Given the description of an element on the screen output the (x, y) to click on. 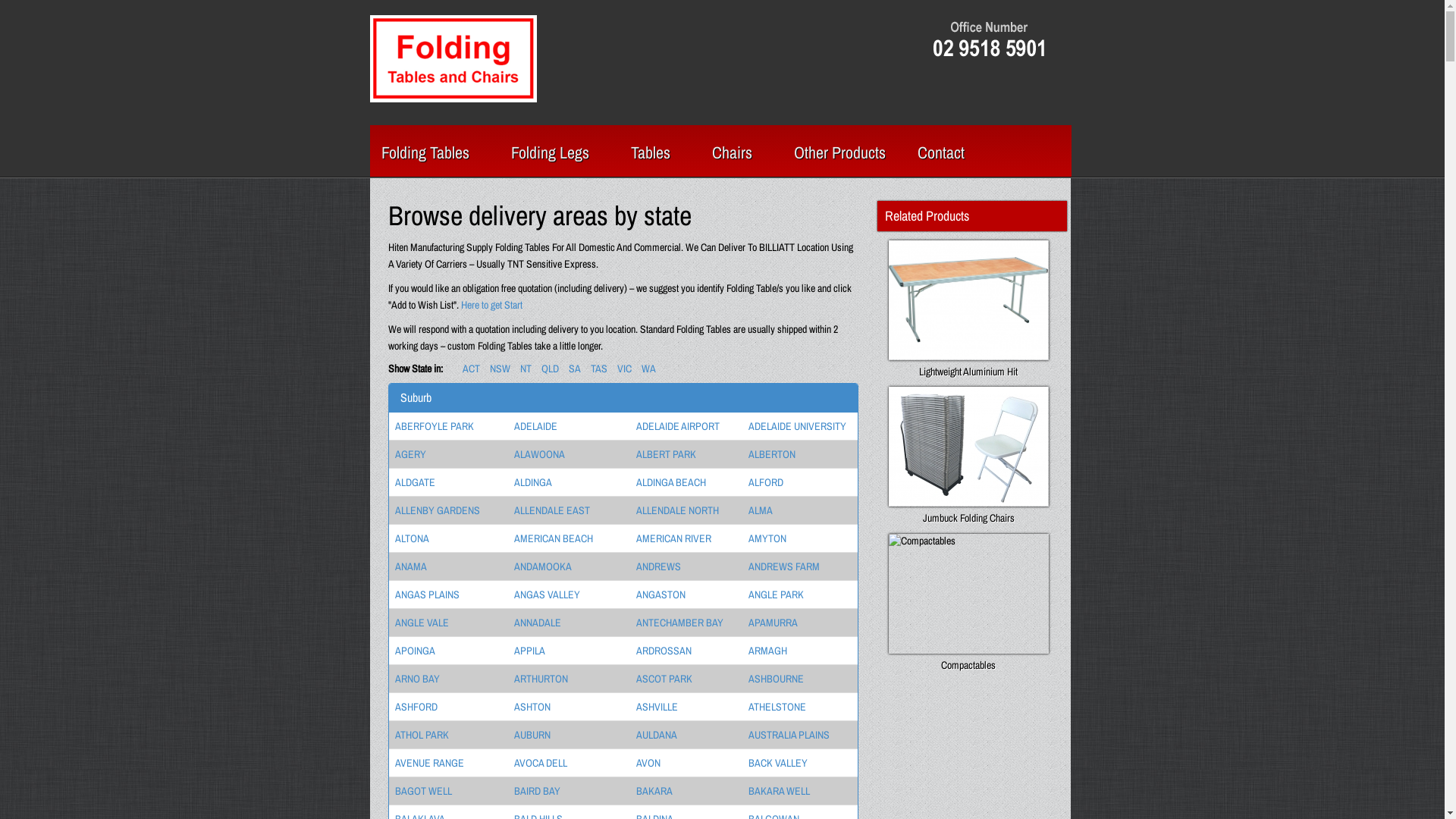
WA Element type: text (648, 368)
AMERICAN RIVER Element type: text (673, 538)
TAS Element type: text (597, 368)
ADELAIDE Element type: text (535, 426)
AMERICAN BEACH Element type: text (553, 538)
ARTHURTON Element type: text (540, 678)
ASCOT PARK Element type: text (664, 678)
Lightweight Aluminium Hit Element type: text (968, 308)
ABERFOYLE PARK Element type: text (433, 426)
ANDREWS FARM Element type: text (783, 566)
Here to get Start Element type: text (491, 304)
SA Element type: text (574, 368)
APPILA Element type: text (529, 650)
ANGLE PARK Element type: text (775, 594)
QLD Element type: text (549, 368)
ALDINGA BEACH Element type: text (671, 482)
Chairs Element type: text (736, 139)
Folding Tables Element type: text (429, 139)
BAKARA WELL Element type: text (778, 790)
ALLENBY GARDENS Element type: text (436, 510)
Folding Legs Element type: text (553, 139)
ALDGATE Element type: text (414, 482)
AVOCA DELL Element type: text (540, 762)
ACT Element type: text (471, 368)
AUSTRALIA PLAINS Element type: text (788, 734)
ALDINGA Element type: text (533, 482)
ALMA Element type: text (760, 510)
ASHBOURNE Element type: text (775, 678)
AVON Element type: text (648, 762)
BAGOT WELL Element type: text (422, 790)
AMYTON Element type: text (767, 538)
NT Element type: text (525, 368)
 | Folding Table Element type: hover (987, 38)
ANGAS PLAINS Element type: text (426, 594)
ANGAS VALLEY Element type: text (547, 594)
APAMURRA Element type: text (772, 622)
 | Folding Table Element type: hover (453, 58)
AUBURN Element type: text (532, 734)
ANDAMOOKA Element type: text (542, 566)
ATHOL PARK Element type: text (421, 734)
Other Products Element type: text (844, 139)
 | Folding Table Element type: hover (453, 57)
ADELAIDE UNIVERSITY Element type: text (797, 426)
ALLENDALE NORTH Element type: text (677, 510)
ARMAGH Element type: text (767, 650)
VIC Element type: text (624, 368)
Contact Element type: text (940, 139)
ANGASTON Element type: text (660, 594)
ANGLE VALE Element type: text (421, 622)
ALAWOONA Element type: text (539, 454)
BACK VALLEY Element type: text (777, 762)
ANTECHAMBER BAY Element type: text (679, 622)
ANAMA Element type: text (410, 566)
AULDANA Element type: text (656, 734)
AVENUE RANGE Element type: text (428, 762)
ARNO BAY Element type: text (416, 678)
ALFORD Element type: text (765, 482)
APOINGA Element type: text (414, 650)
Jumbuck Folding Chairs Element type: text (968, 455)
Tables Element type: text (654, 139)
BAIRD BAY Element type: text (537, 790)
BAKARA Element type: text (654, 790)
ALBERT PARK Element type: text (666, 454)
ARDROSSAN Element type: text (663, 650)
ALLENDALE EAST Element type: text (551, 510)
ALTONA Element type: text (411, 538)
ALBERTON Element type: text (771, 454)
ASHFORD Element type: text (415, 706)
ANNADALE Element type: text (537, 622)
ASHVILLE Element type: text (656, 706)
ADELAIDE AIRPORT Element type: text (677, 426)
NSW Element type: text (499, 368)
ASHTON Element type: text (532, 706)
ATHELSTONE Element type: text (777, 706)
Compactables Element type: text (968, 602)
AGERY Element type: text (409, 454)
ANDREWS Element type: text (658, 566)
